Given the description of an element on the screen output the (x, y) to click on. 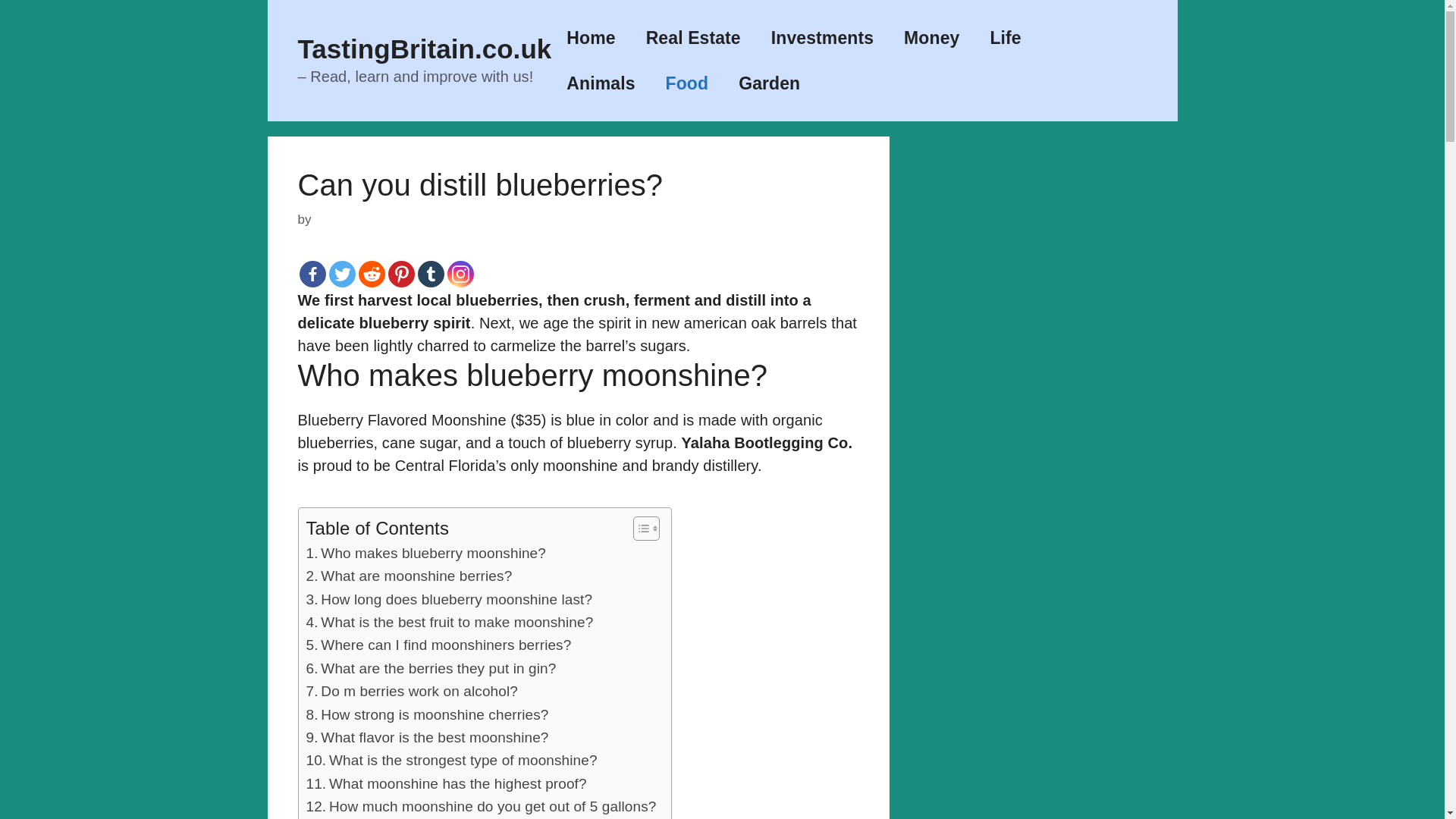
What is the best fruit to make moonshine? (449, 621)
How much moonshine do you get out of 5 gallons? (480, 806)
What moonshine has the highest proof? (445, 784)
TastingBritain.co.uk (424, 48)
Instagram (460, 274)
Food (686, 83)
Pinterest (401, 274)
Money (931, 37)
How much moonshine do you get out of 5 gallons? (480, 806)
Reddit (371, 274)
